Given the description of an element on the screen output the (x, y) to click on. 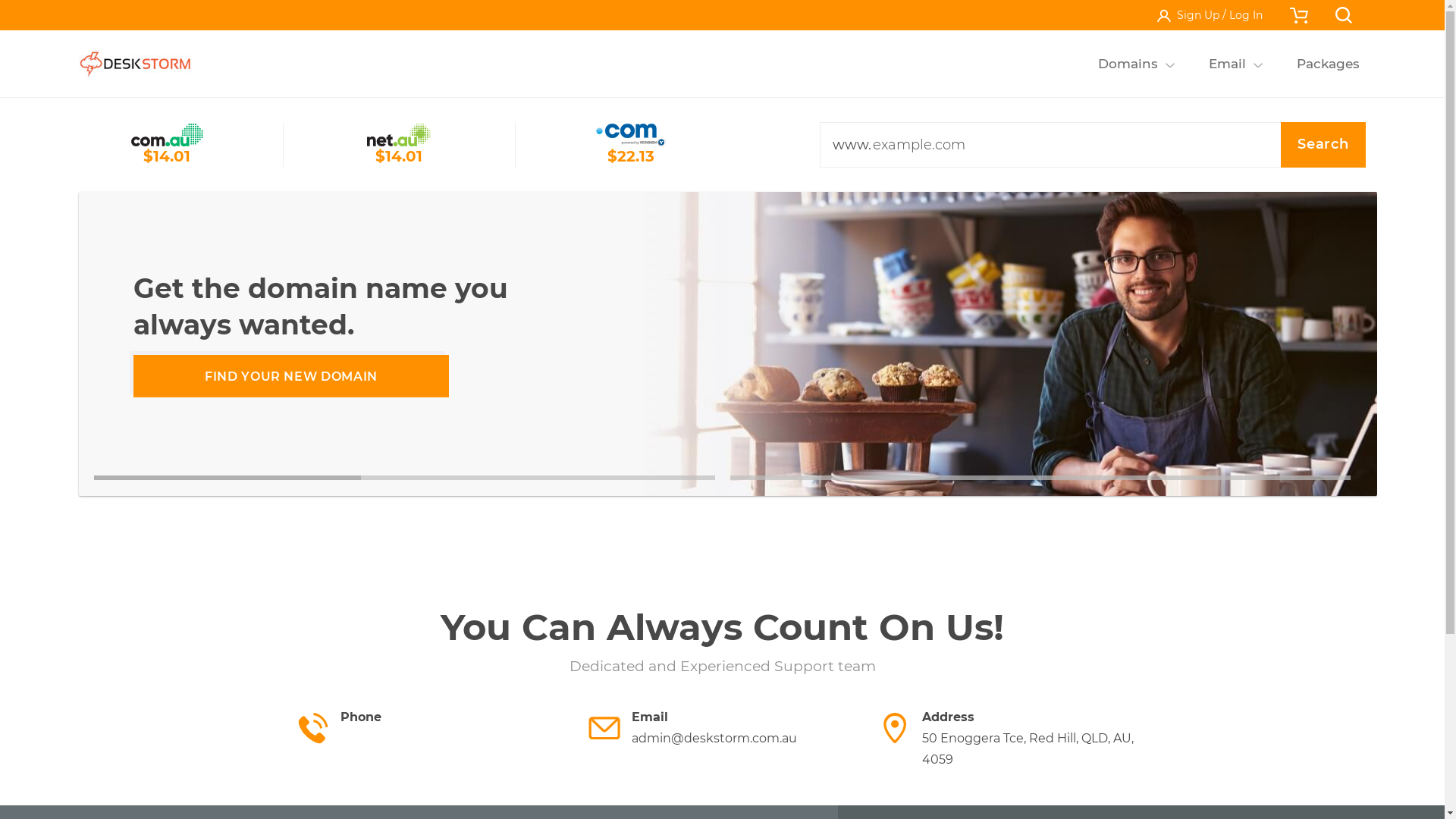
Email Element type: text (1226, 63)
BUILD NOW Element type: text (290, 375)
Search Element type: text (1322, 144)
Packages Element type: text (1327, 63)
Email
admin@deskstorm.com.au Element type: text (722, 727)
Phone Element type: text (431, 727)
Domains Element type: text (1128, 63)
